Given the description of an element on the screen output the (x, y) to click on. 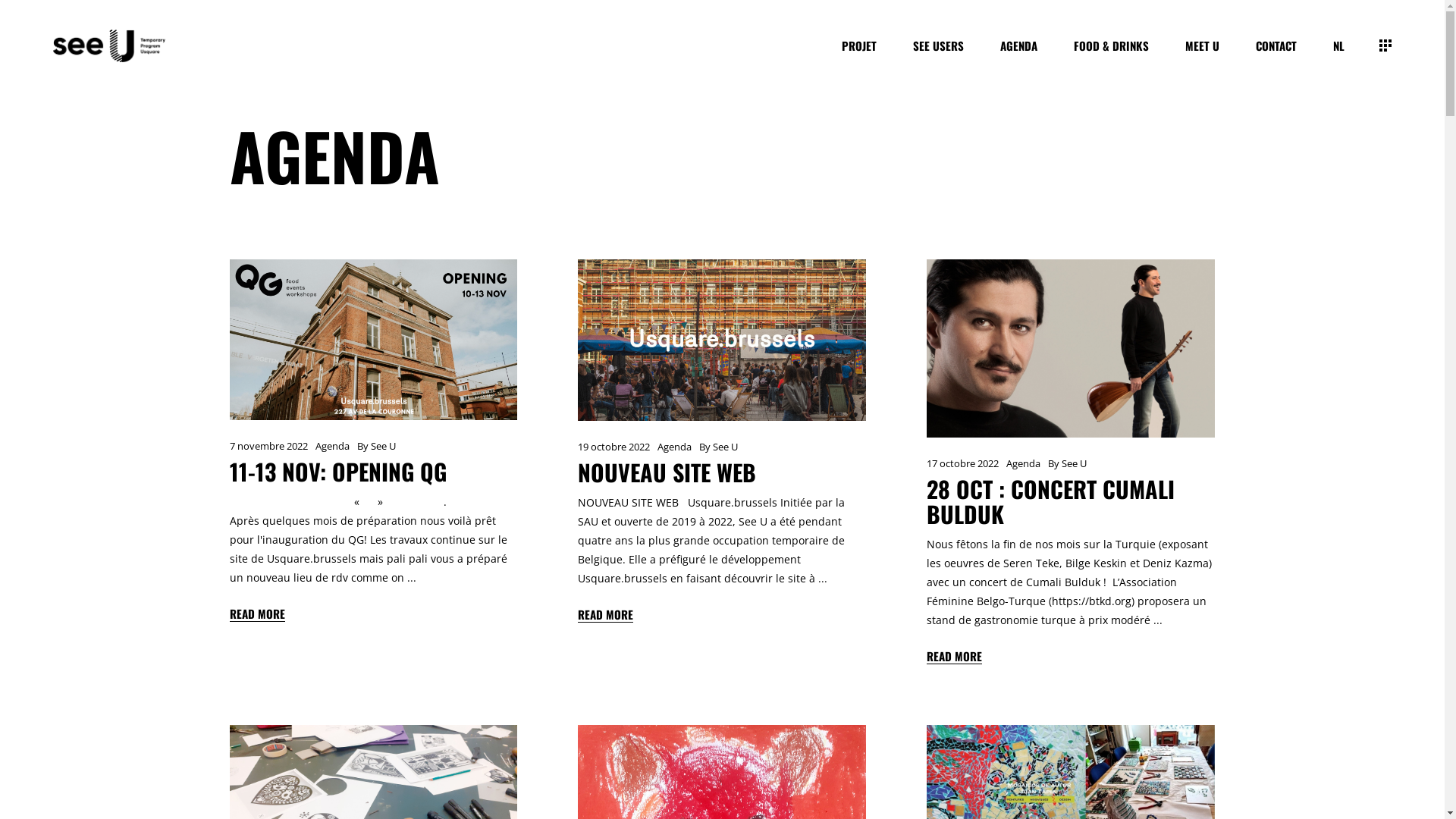
NL Element type: text (1338, 44)
28 OCT : CONCERT CUMALI BULDUK Element type: text (1050, 500)
Agenda Element type: text (674, 446)
READ MORE Element type: text (954, 655)
MEET U Element type: text (1202, 44)
17 octobre 2022 Element type: text (962, 463)
NOUVEAU SITE WEB Element type: hover (721, 339)
See U Element type: text (724, 446)
28 OCT : CONCERT CUMALI BULDUK Element type: hover (1070, 348)
Agenda Element type: text (1023, 463)
PROJET Element type: text (858, 44)
FOOD & DRINKS Element type: text (1111, 44)
Agenda Element type: text (332, 445)
NOUVEAU SITE WEB Element type: text (666, 472)
11-13 NOV: OPENING QG Element type: hover (373, 339)
7 novembre 2022 Element type: text (268, 445)
11-13 NOV: OPENING QG Element type: text (337, 471)
CONTACT Element type: text (1275, 44)
See U Element type: text (1073, 463)
AGENDA Element type: text (1018, 44)
19 octobre 2022 Element type: text (613, 446)
READ MORE Element type: text (256, 612)
READ MORE Element type: text (605, 613)
SEE USERS Element type: text (938, 44)
See U Element type: text (382, 445)
